Given the description of an element on the screen output the (x, y) to click on. 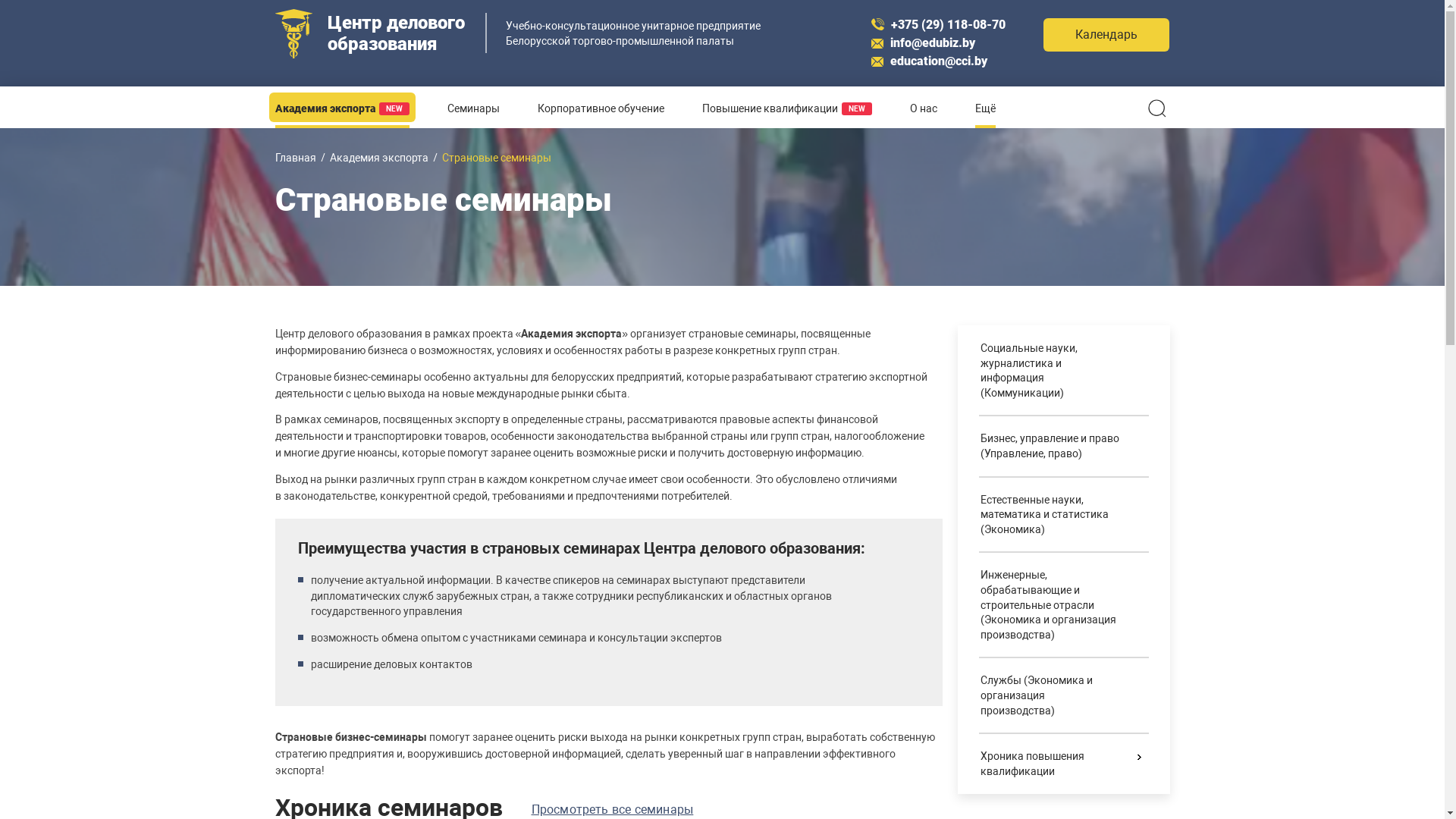
education@cci.by Element type: text (929, 60)
+375 (29) 118-08-70 Element type: text (938, 24)
info@edubiz.by Element type: text (923, 42)
